Given the description of an element on the screen output the (x, y) to click on. 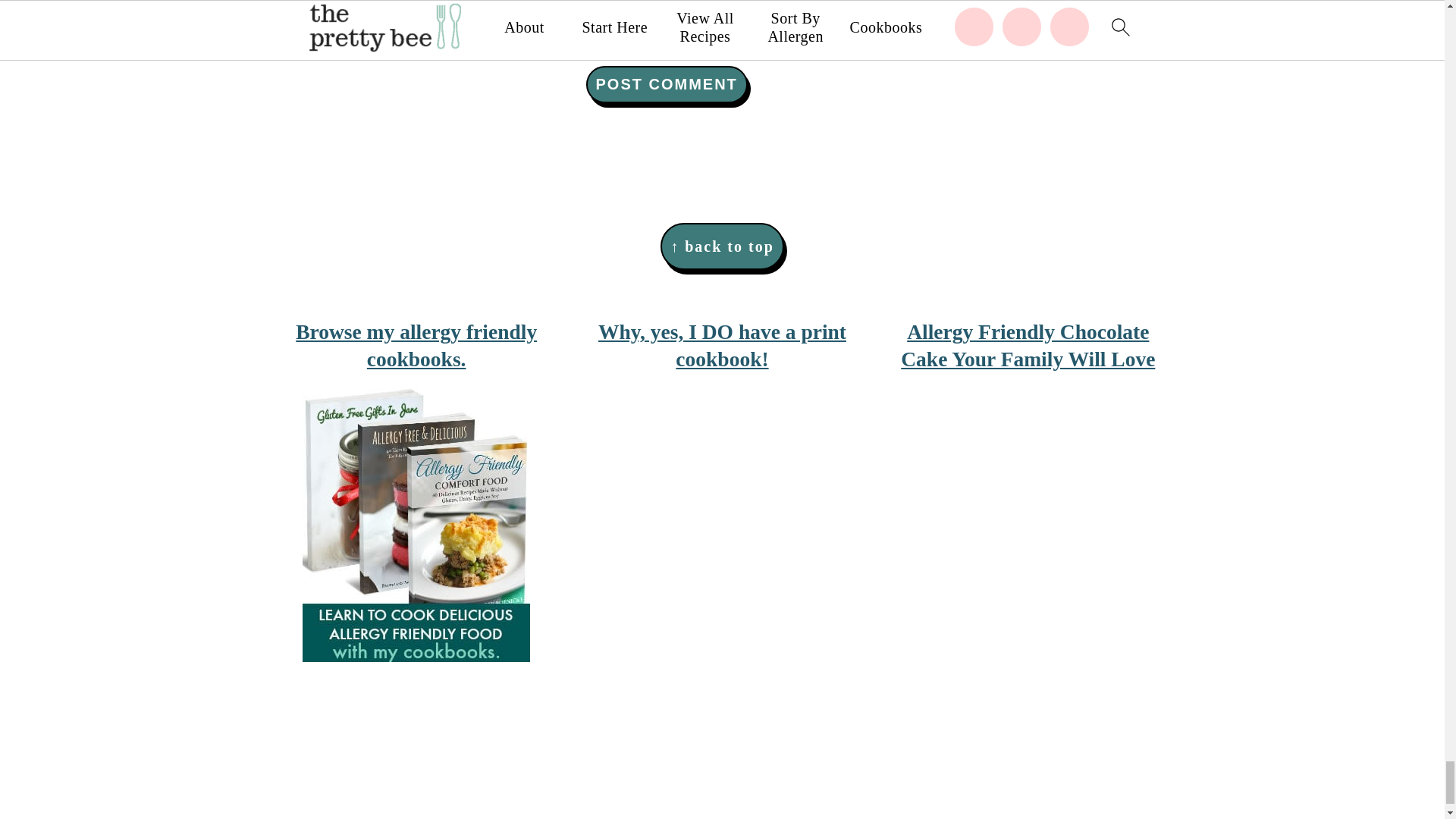
subscribe (590, 37)
Post Comment (665, 84)
